Given the description of an element on the screen output the (x, y) to click on. 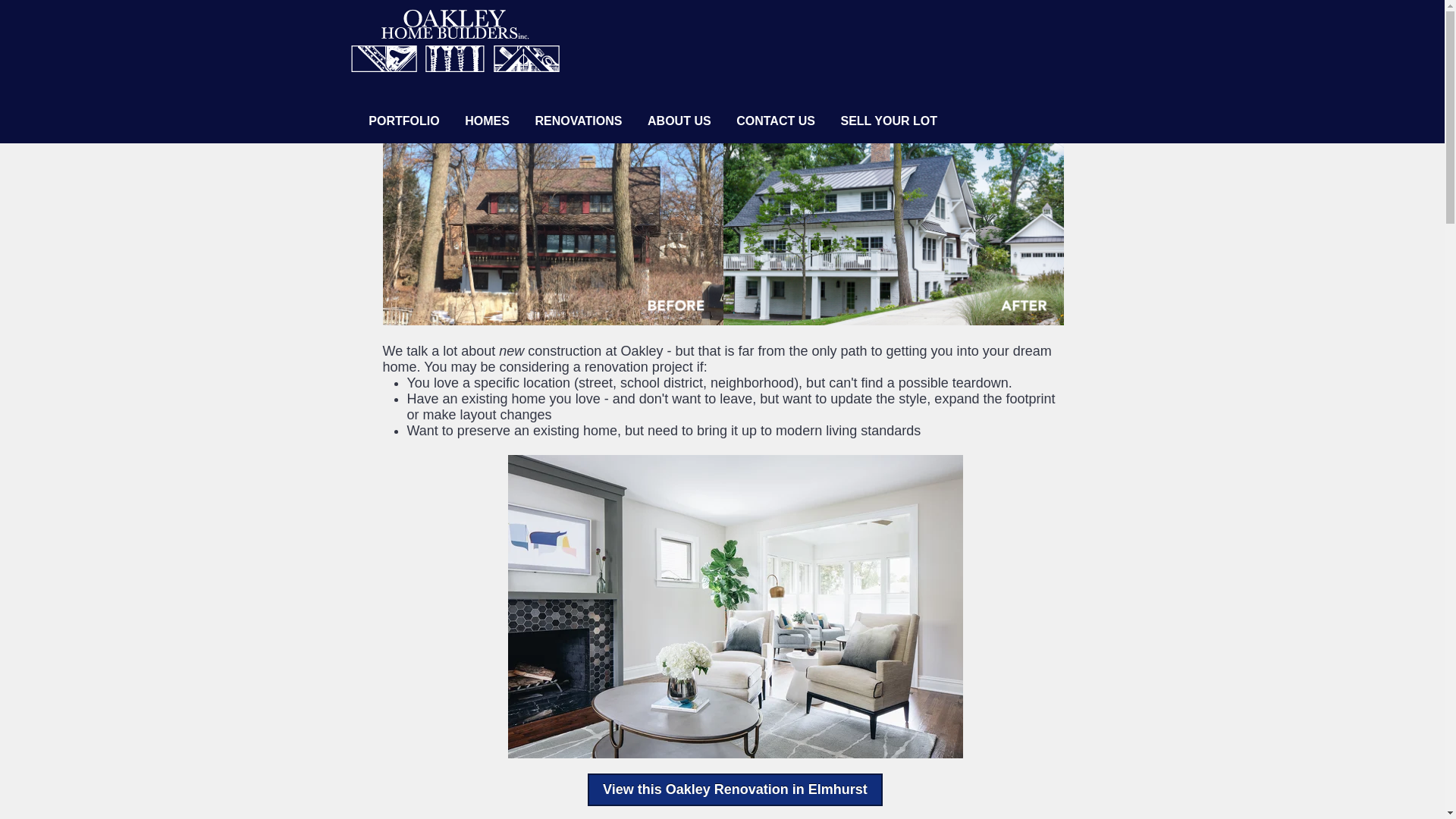
Oakley Home Builders (454, 40)
RENOVATIONS (577, 121)
View this Oakley Renovation in Elmhurst (735, 789)
HOMES (486, 121)
SELL YOUR LOT (887, 121)
ABOUT US (679, 121)
PORTFOLIO (403, 121)
CONTACT US (775, 121)
